Given the description of an element on the screen output the (x, y) to click on. 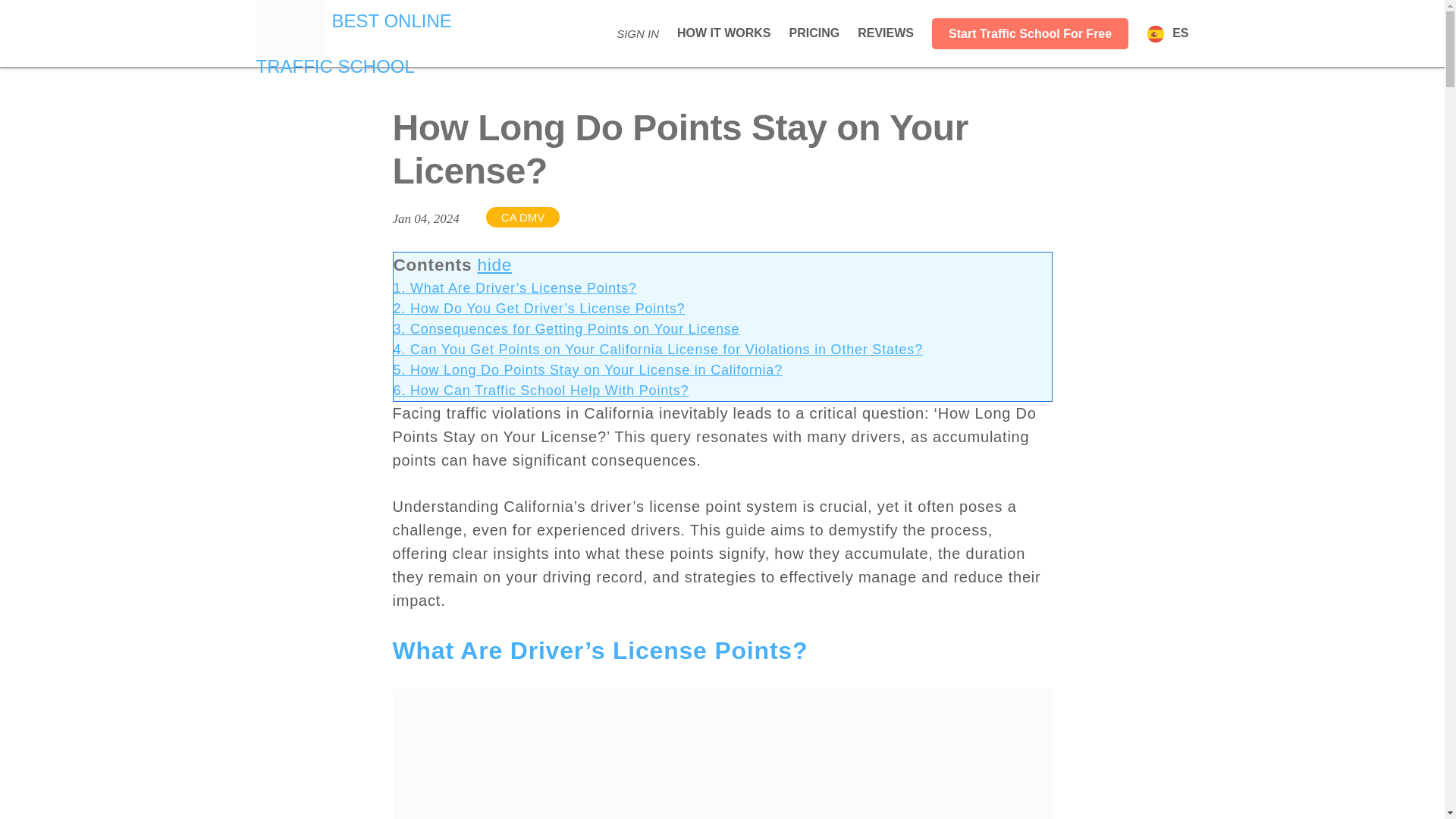
PRICING (814, 32)
6. How Can Traffic School Help With Points? (540, 390)
ES (1167, 32)
SIGN IN (637, 33)
CA DMV (353, 43)
REVIEWS (523, 217)
HOW IT WORKS (885, 32)
hide (724, 32)
5. How Long Do Points Stay on Your License in California? (494, 264)
Start Traffic School For Free (587, 369)
3. Consequences for Getting Points on Your License (1029, 33)
